Given the description of an element on the screen output the (x, y) to click on. 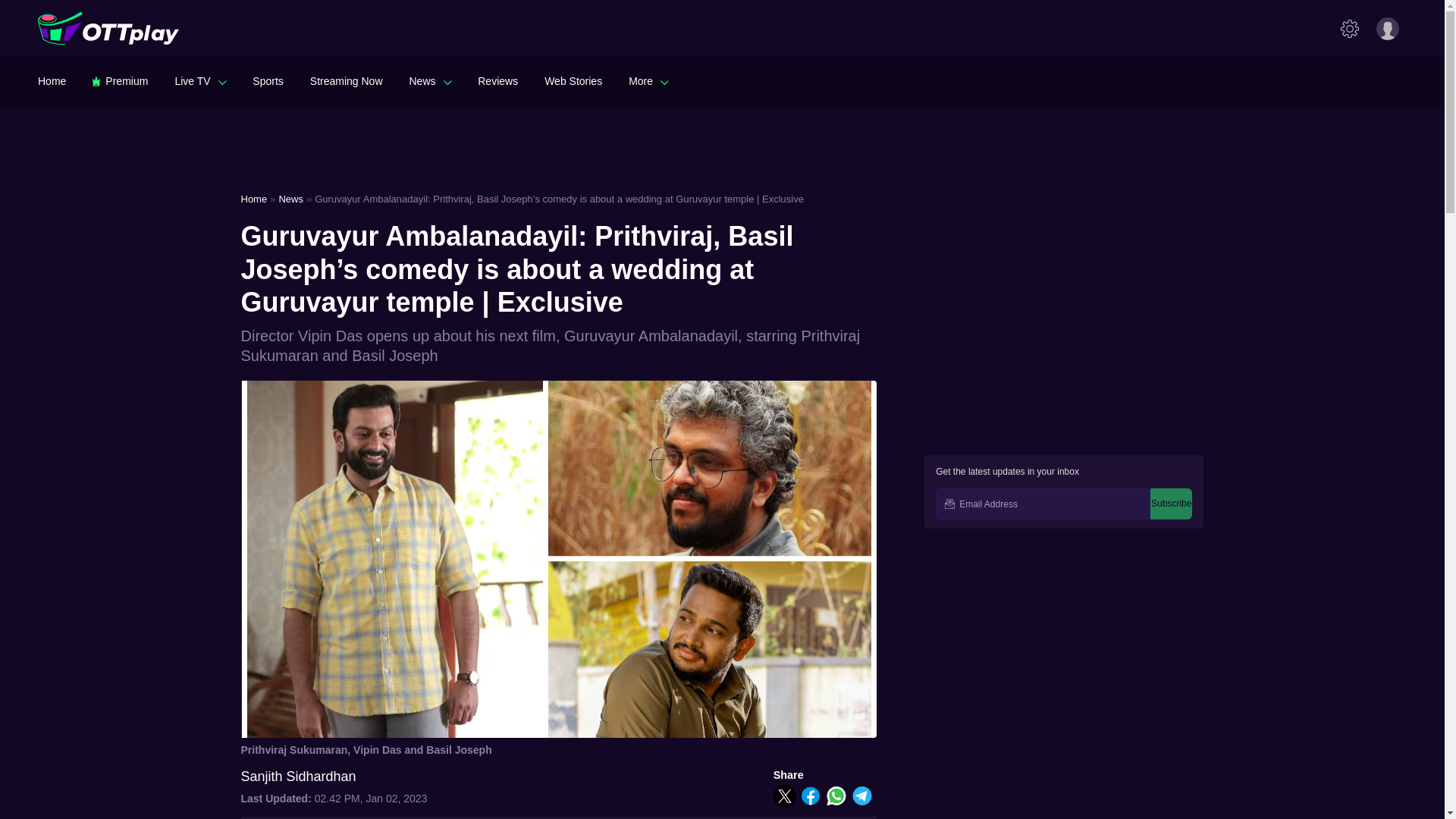
News (430, 80)
Web Stories (573, 80)
Premium (120, 80)
Streaming Now (346, 80)
Live TV (199, 80)
